Given the description of an element on the screen output the (x, y) to click on. 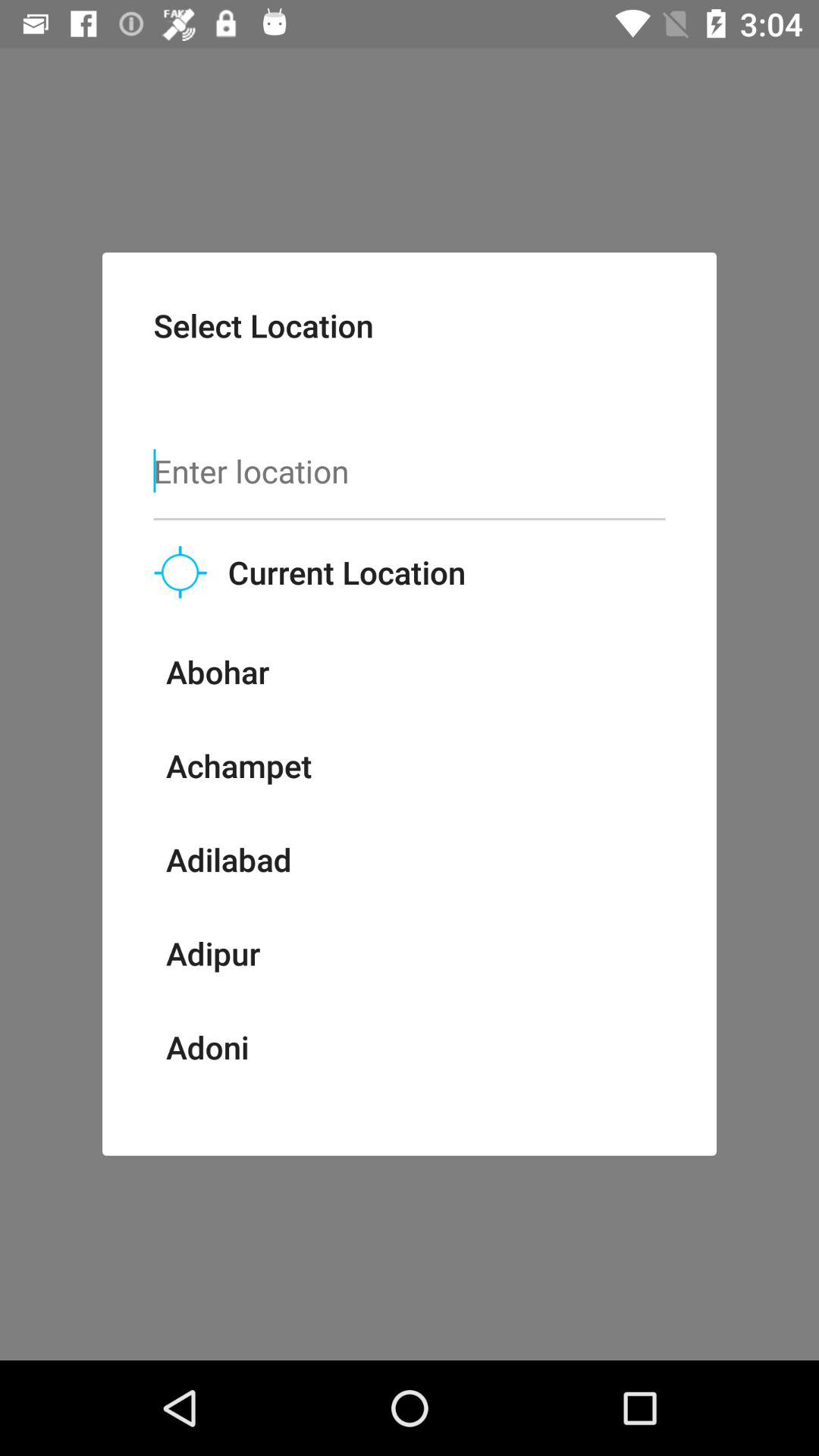
jump until agra (199, 1111)
